Given the description of an element on the screen output the (x, y) to click on. 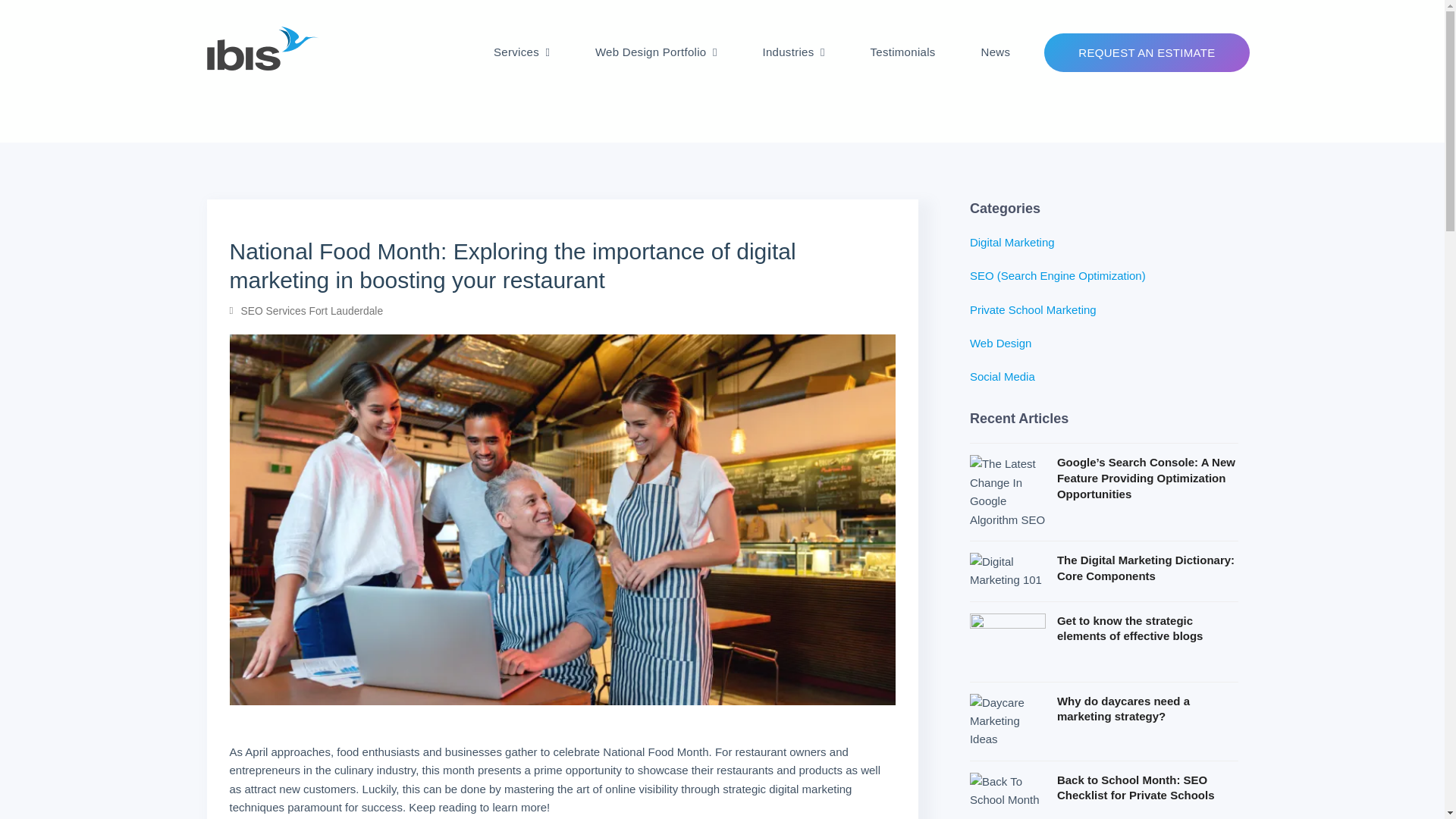
Industries (793, 52)
Web Design Portfolio (656, 52)
SEO Services Fort Lauderdale (312, 310)
Social Media (1002, 376)
News (995, 52)
Services (520, 52)
Get to know the strategic elements of effective blogs (1104, 641)
The Digital Marketing Dictionary: Core Components (1104, 570)
Web Design (999, 342)
REQUEST AN ESTIMATE (1146, 52)
